Given the description of an element on the screen output the (x, y) to click on. 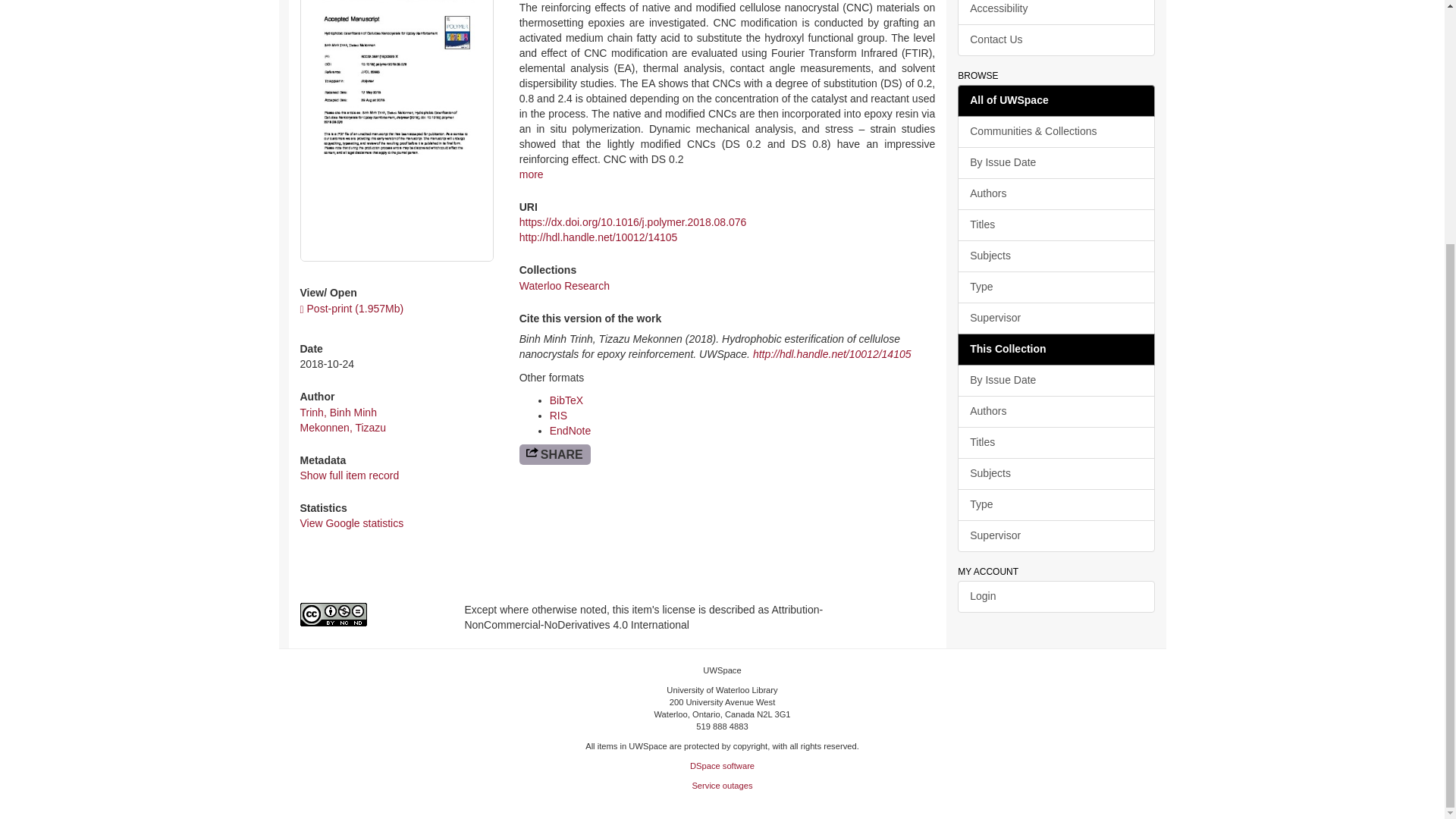
View Google statistics (351, 522)
EndNote (570, 430)
Mekonnen, Tizazu (343, 427)
Waterloo Research (564, 285)
Show full item record (348, 475)
BibTeX (566, 399)
more (531, 174)
Attribution-NonCommercial-NoDerivatives 4.0 International (370, 614)
RIS (558, 415)
Trinh, Binh Minh (338, 412)
